Given the description of an element on the screen output the (x, y) to click on. 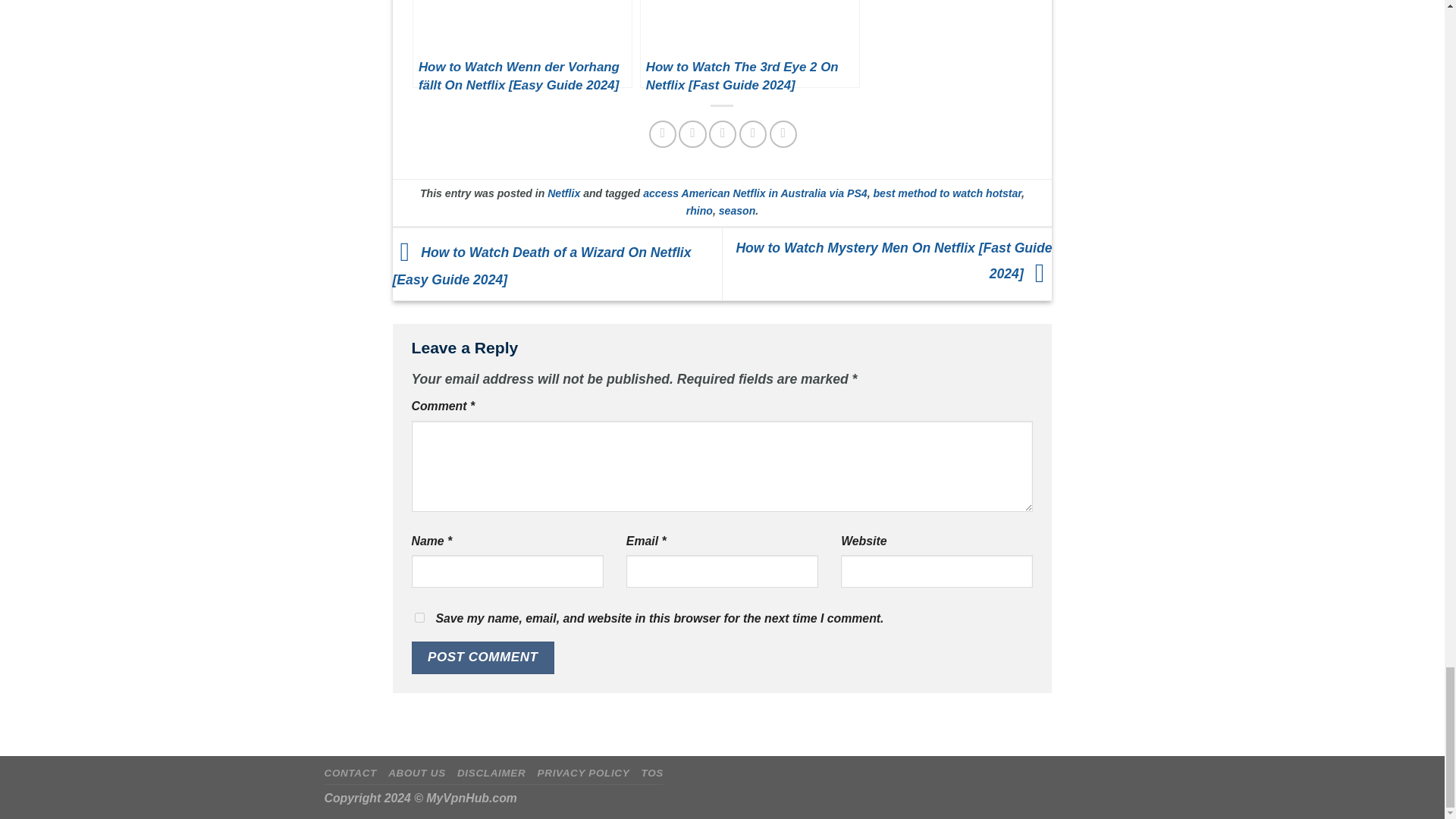
Post Comment (481, 657)
yes (418, 617)
